Given the description of an element on the screen output the (x, y) to click on. 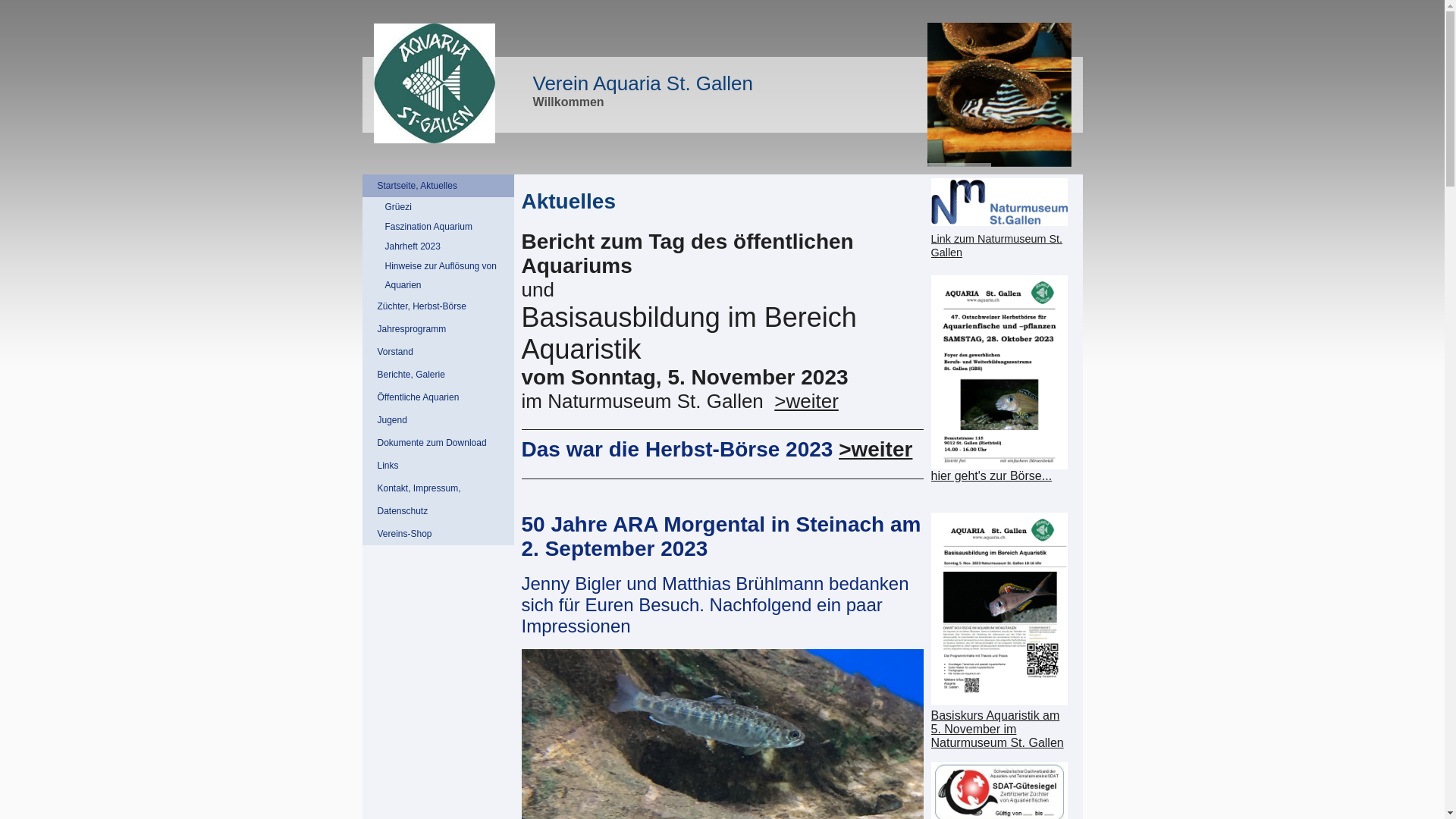
Jugend Element type: text (438, 419)
Dokumente zum Download Element type: text (438, 442)
Vereins-Shop Element type: text (438, 533)
Vorstand Element type: text (438, 351)
Links Element type: text (438, 465)
Startseite, Aktuelles Element type: text (438, 185)
Faszination Aquarium Element type: text (438, 226)
Kontakt, Impressum, Datenschutz Element type: text (438, 499)
Link zum Naturmuseum St. Gallen Element type: text (999, 218)
>weiter Element type: text (806, 400)
Berichte, Galerie Element type: text (438, 374)
>weiter Element type: text (875, 449)
Jahrheft 2023 Element type: text (438, 246)
Jahresprogramm Element type: text (438, 328)
